Given the description of an element on the screen output the (x, y) to click on. 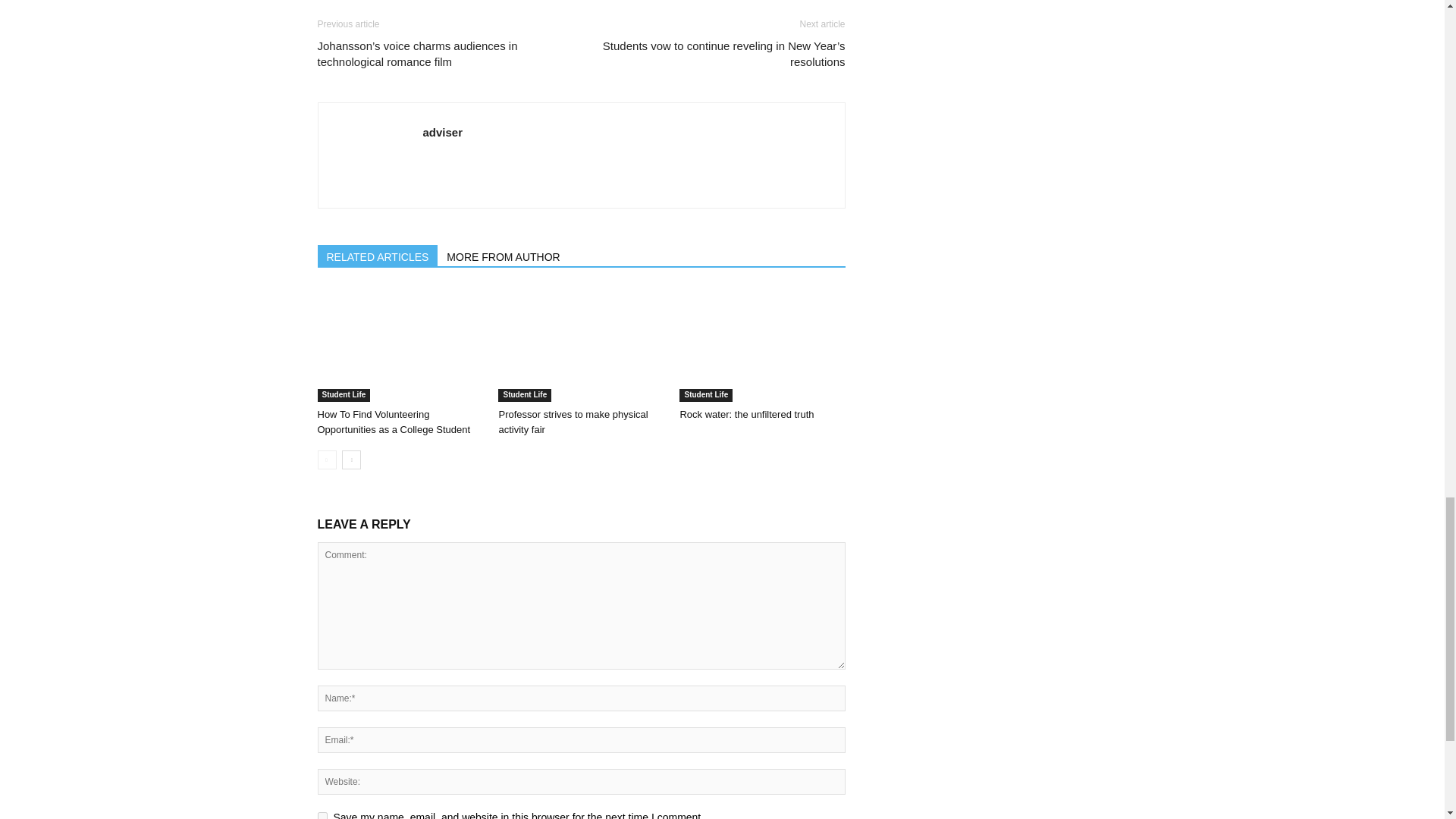
Rock water: the unfiltered truth (761, 345)
Professor strives to make physical activity fair (572, 421)
How To Find Volunteering Opportunities as a College Student (399, 345)
yes (321, 815)
How To Find Volunteering Opportunities as a College Student (393, 421)
Professor strives to make physical activity fair (580, 345)
